Given the description of an element on the screen output the (x, y) to click on. 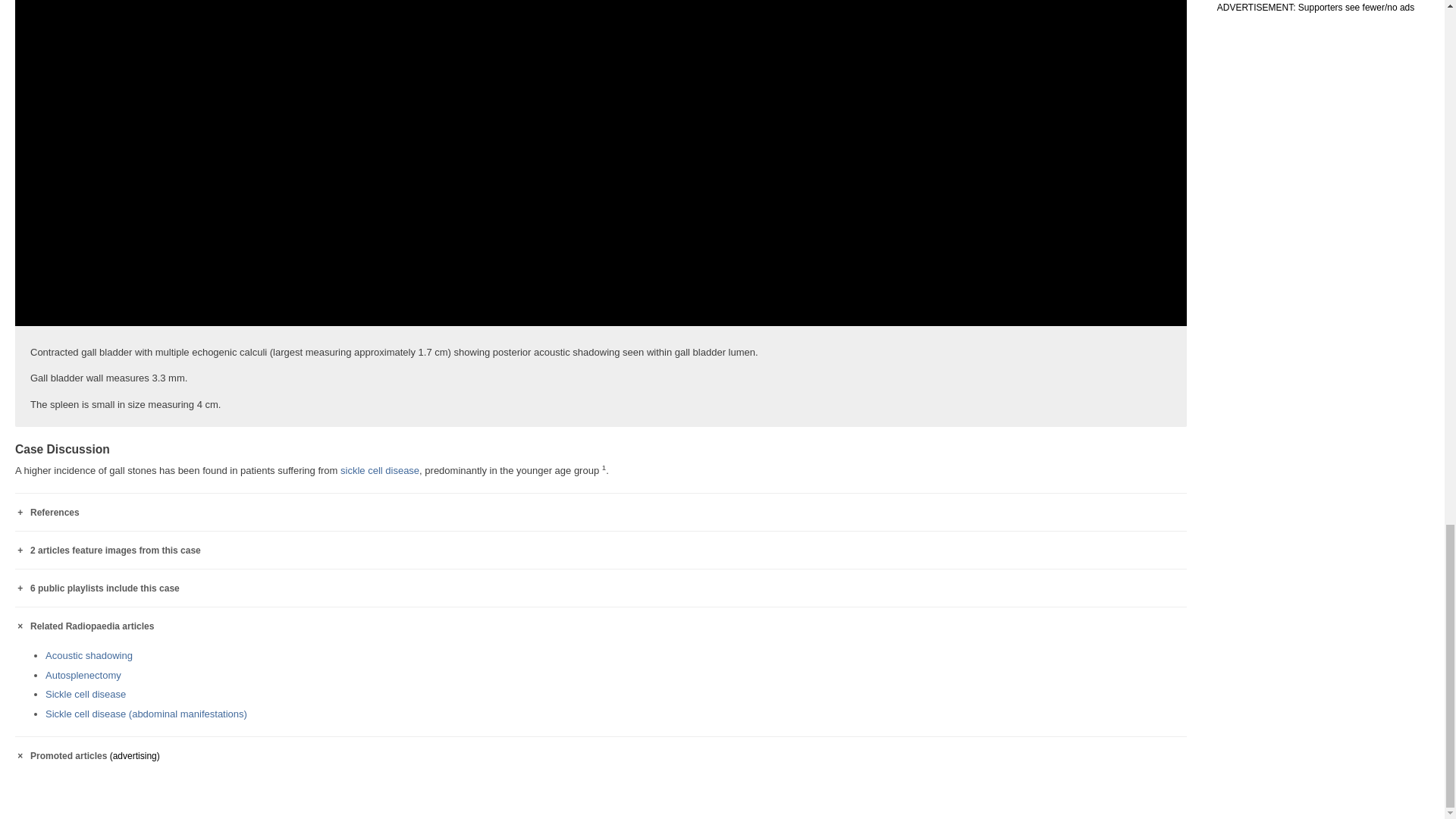
sickle cell disease (379, 470)
Sickle cell disease (379, 470)
Autosplenectomy (82, 674)
Acoustic shadowing (88, 655)
Sickle cell disease (85, 694)
